Given the description of an element on the screen output the (x, y) to click on. 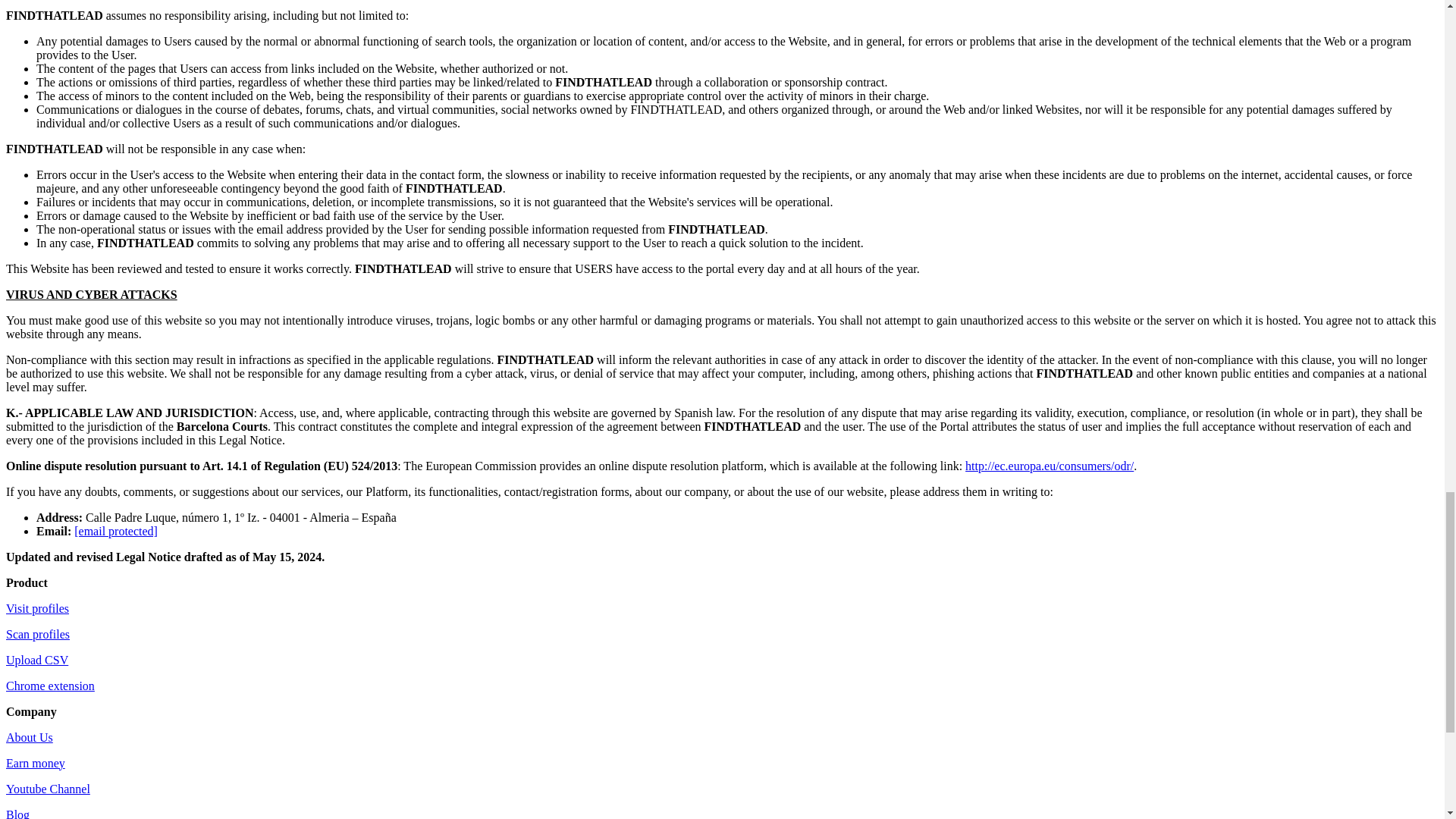
Youtube Channel (47, 788)
Visit profiles (36, 608)
Upload CSV (36, 659)
Earn money (35, 762)
Blog (17, 813)
About Us (28, 737)
Chrome extension (49, 685)
Scan profiles (37, 634)
